Given the description of an element on the screen output the (x, y) to click on. 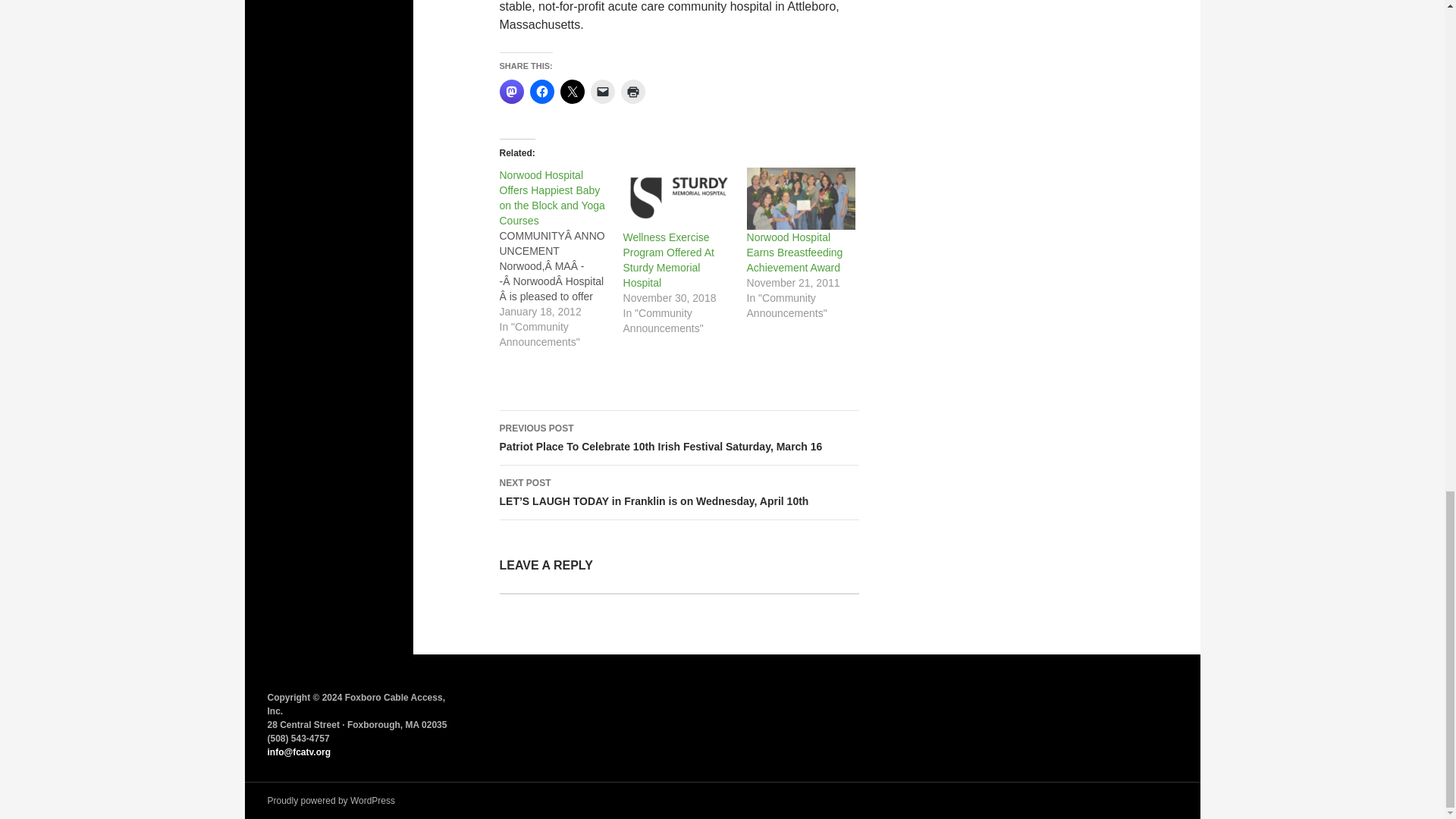
Click to print (632, 91)
Click to share on X (571, 91)
Norwood Hospital Earns Breastfeeding Achievement Award (801, 198)
Click to share on Mastodon (510, 91)
Click to share on Facebook (541, 91)
Click to email a link to a friend (601, 91)
Norwood Hospital Earns Breastfeeding Achievement Award (794, 251)
